Given the description of an element on the screen output the (x, y) to click on. 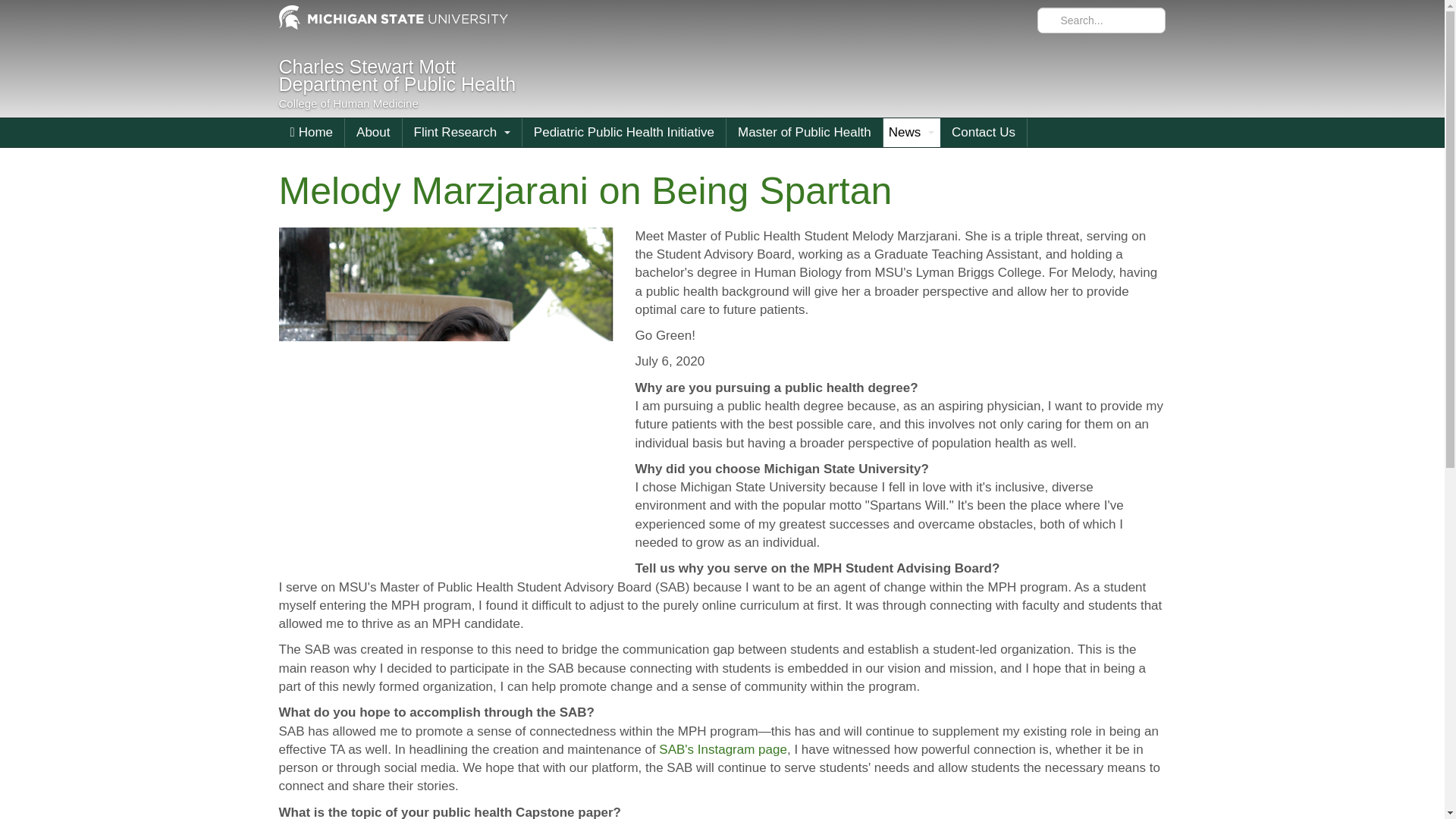
College of Human Medicine (349, 100)
click to view website (349, 100)
Charles Stewart Mott Department of Public Health (393, 18)
Melody Marzjarani on Being Spartan (397, 75)
